Given the description of an element on the screen output the (x, y) to click on. 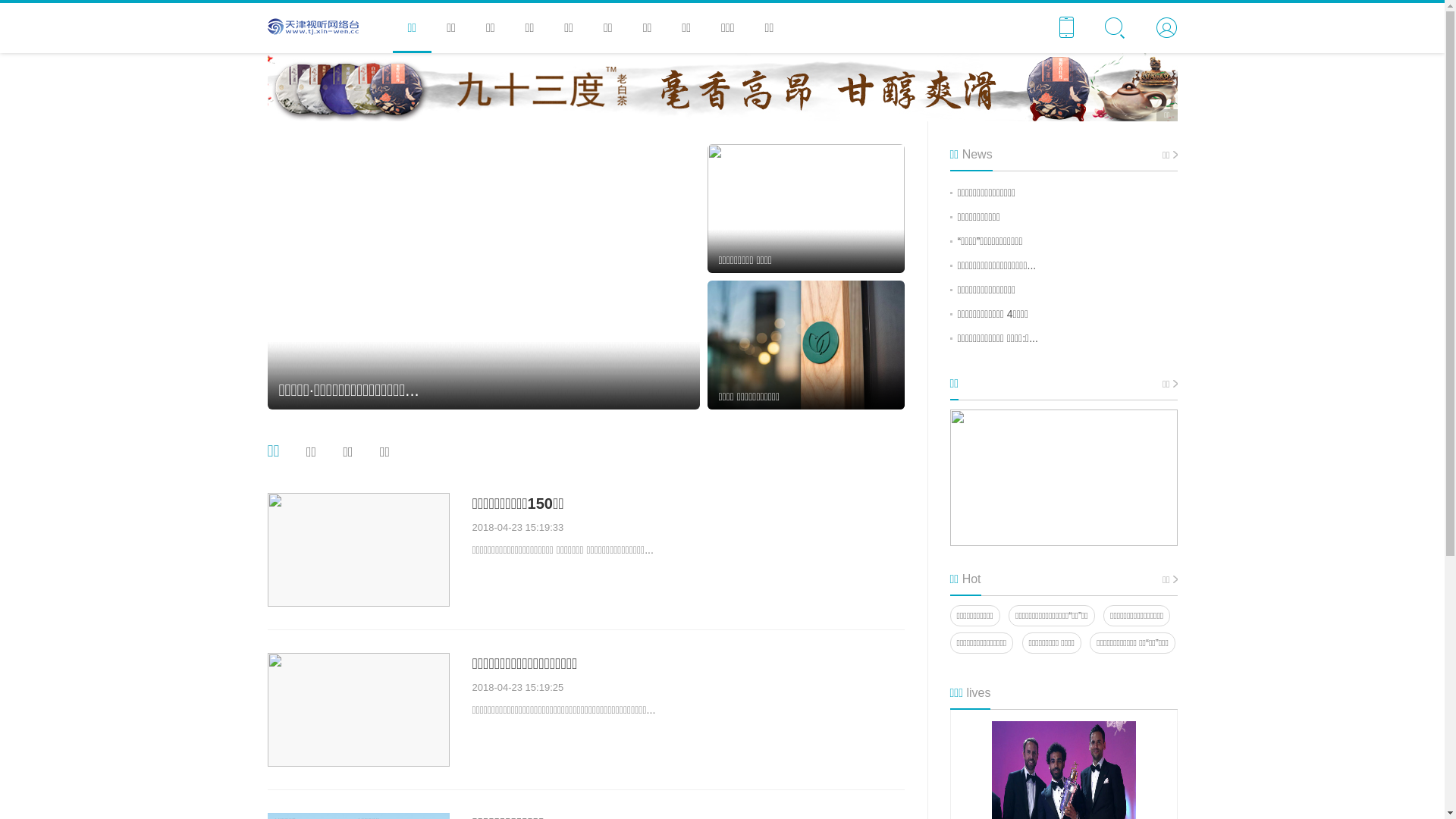
/ Element type: hover (319, 26)
